Given the description of an element on the screen output the (x, y) to click on. 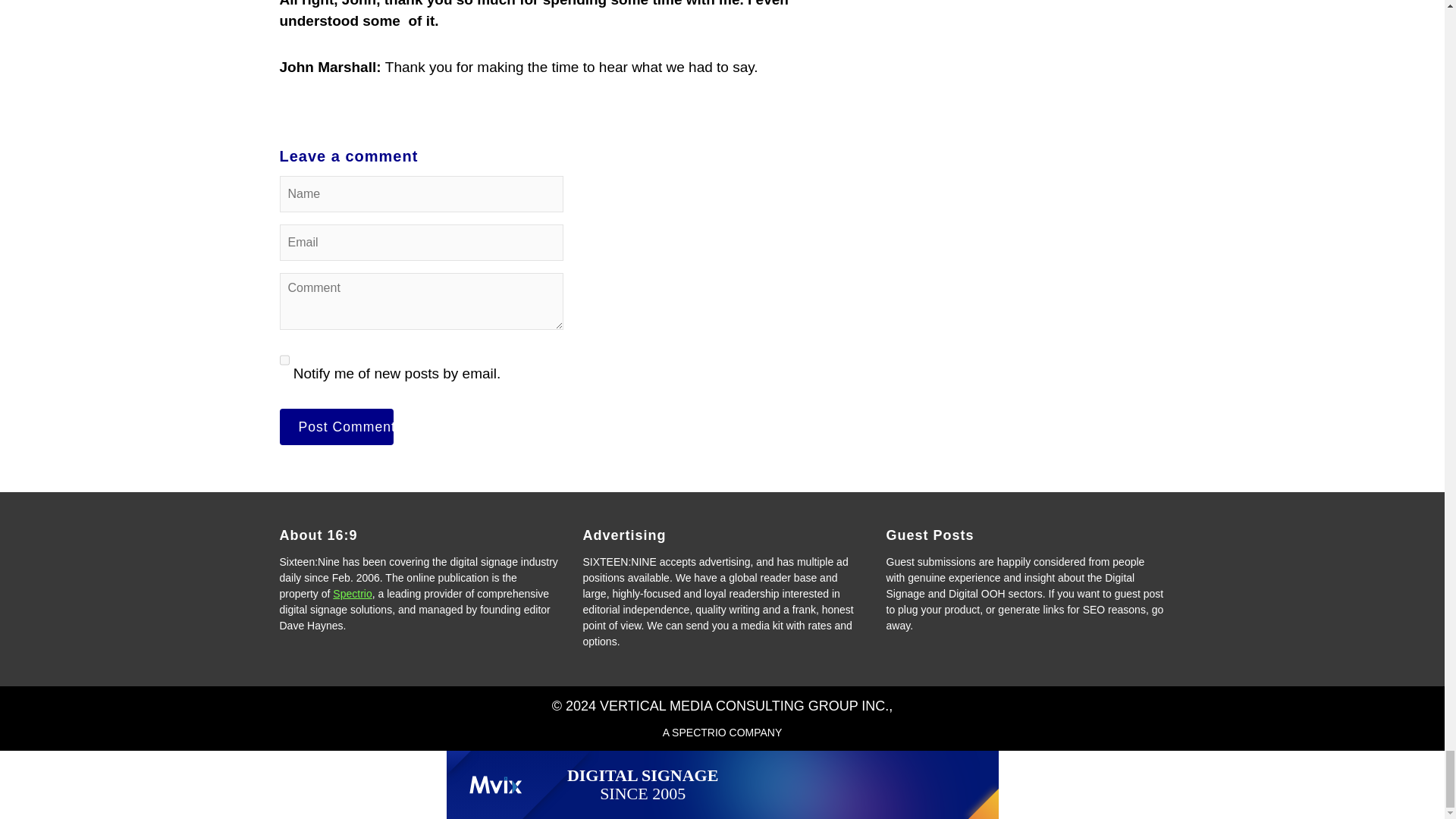
Spectrio (352, 593)
Post Comment (336, 426)
Post Comment (336, 426)
A SPECTRIO COMPANY (721, 732)
